Given the description of an element on the screen output the (x, y) to click on. 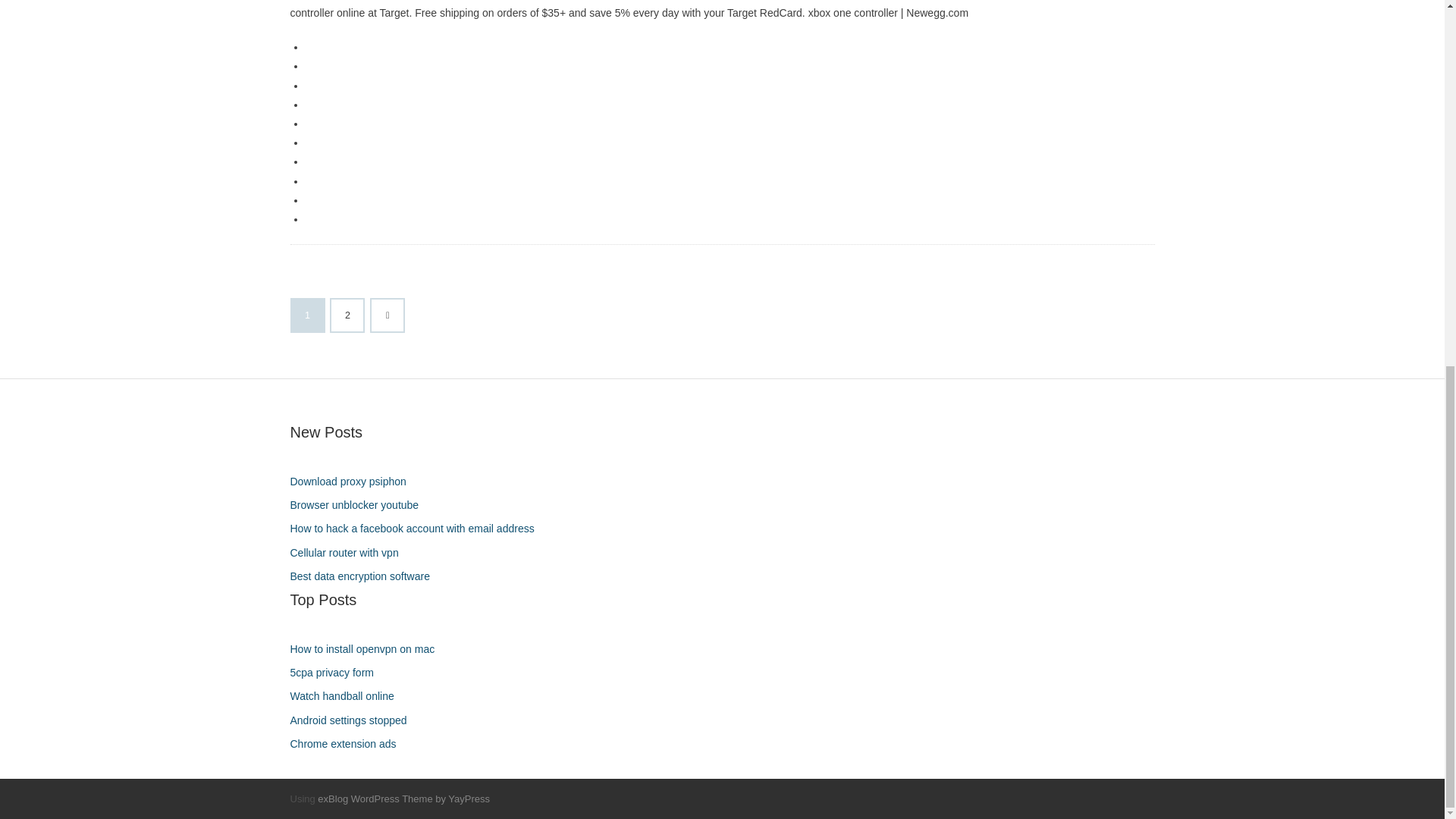
Watch handball online (346, 696)
Chrome extension ads (348, 743)
exBlog WordPress Theme by YayPress (403, 798)
Browser unblocker youtube (359, 505)
Best data encryption software (365, 576)
2 (346, 315)
Cellular router with vpn (349, 552)
How to install openvpn on mac (367, 649)
Download proxy psiphon (352, 481)
5cpa privacy form (336, 672)
